Given the description of an element on the screen output the (x, y) to click on. 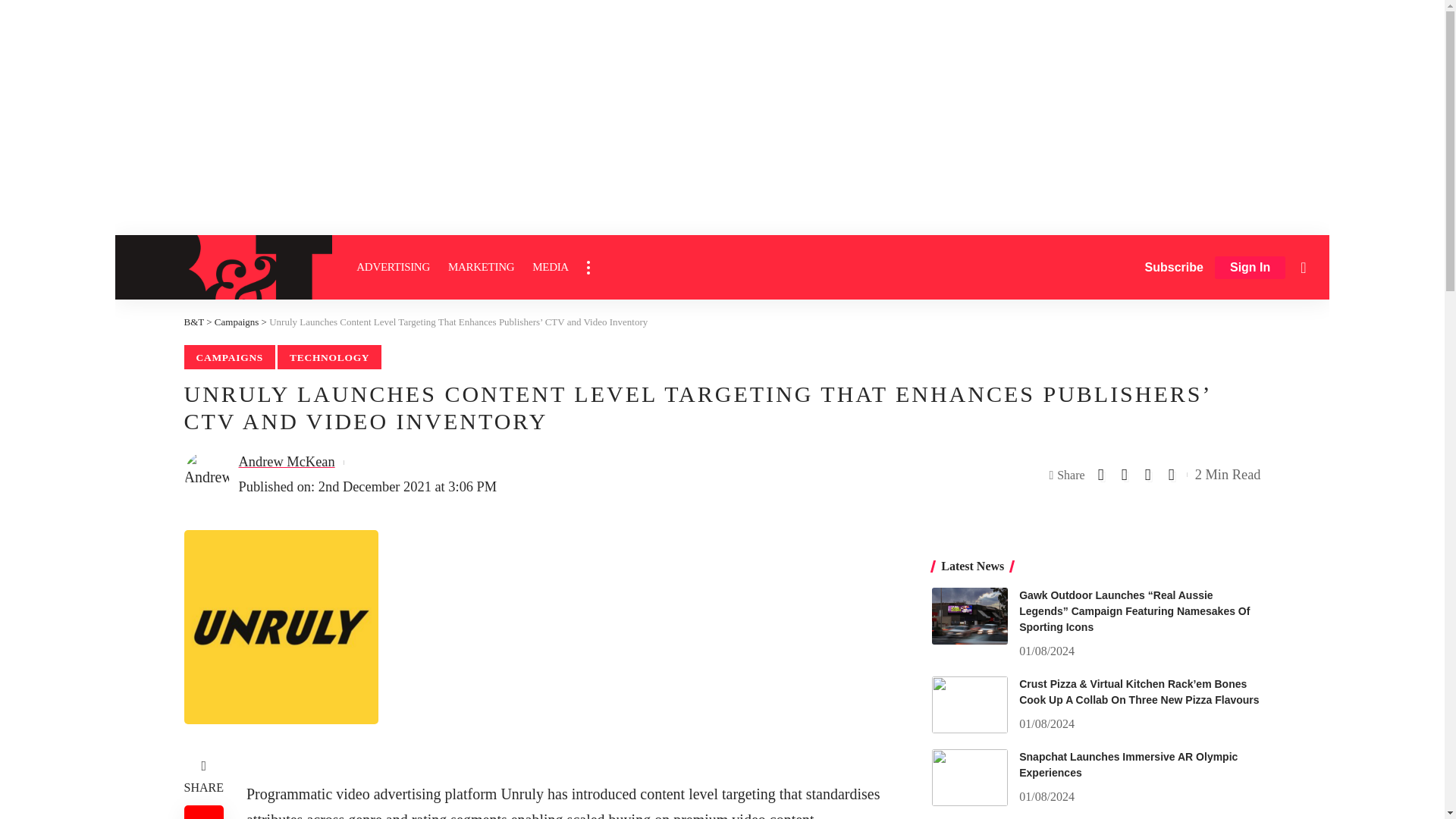
Subscribe (1174, 267)
ADVERTISING (393, 267)
Snapchat Launches Immersive AR Olympic Experiences (969, 777)
MARKETING (480, 267)
Sign In (1249, 267)
Go to the Campaigns Category archives. (236, 321)
